Given the description of an element on the screen output the (x, y) to click on. 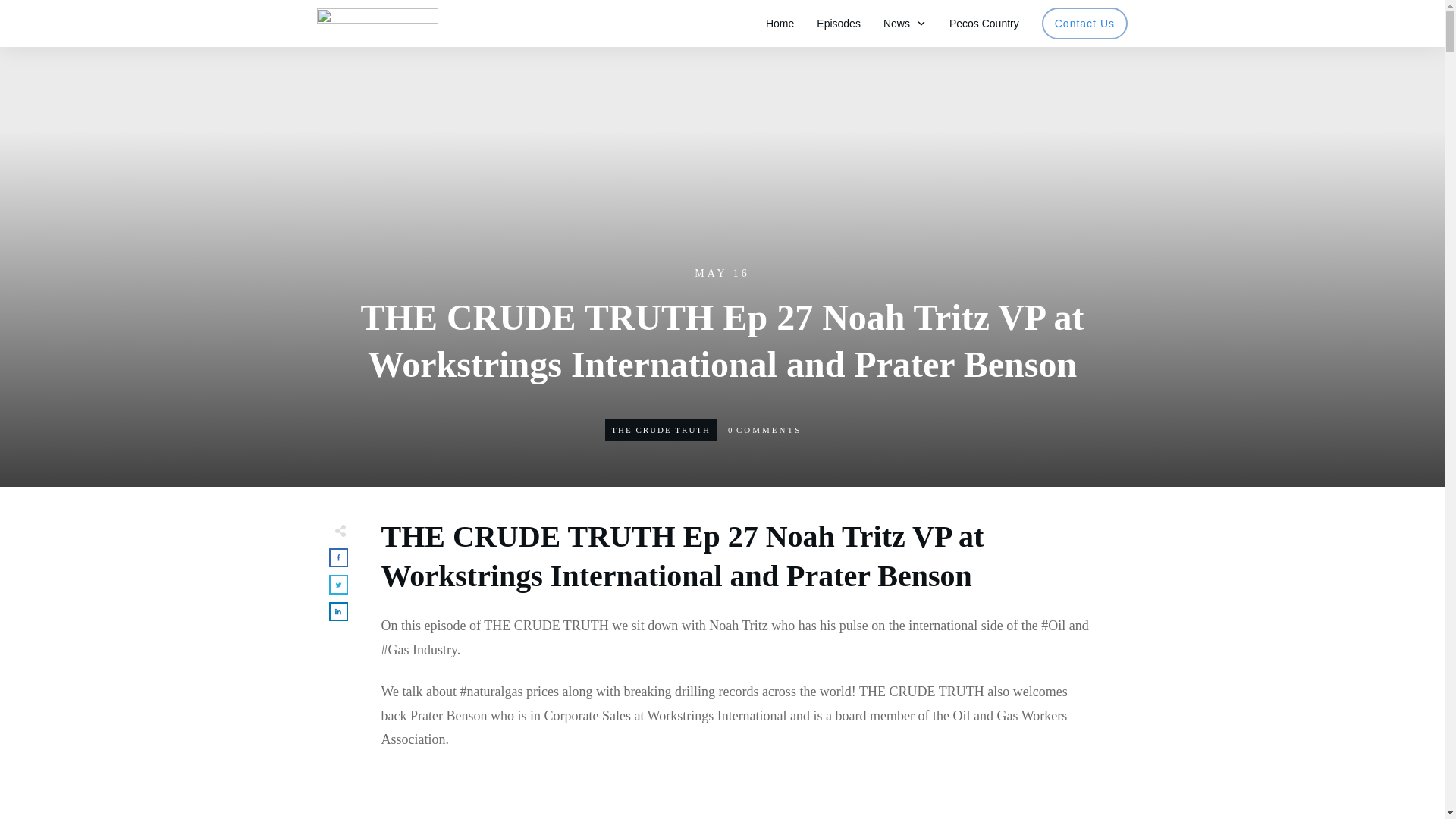
Episodes (838, 23)
Pecos Country (984, 23)
News (904, 23)
The Crude Truth (660, 429)
Home (779, 23)
Contact Us (1084, 23)
THE CRUDE TRUTH (660, 429)
